Given the description of an element on the screen output the (x, y) to click on. 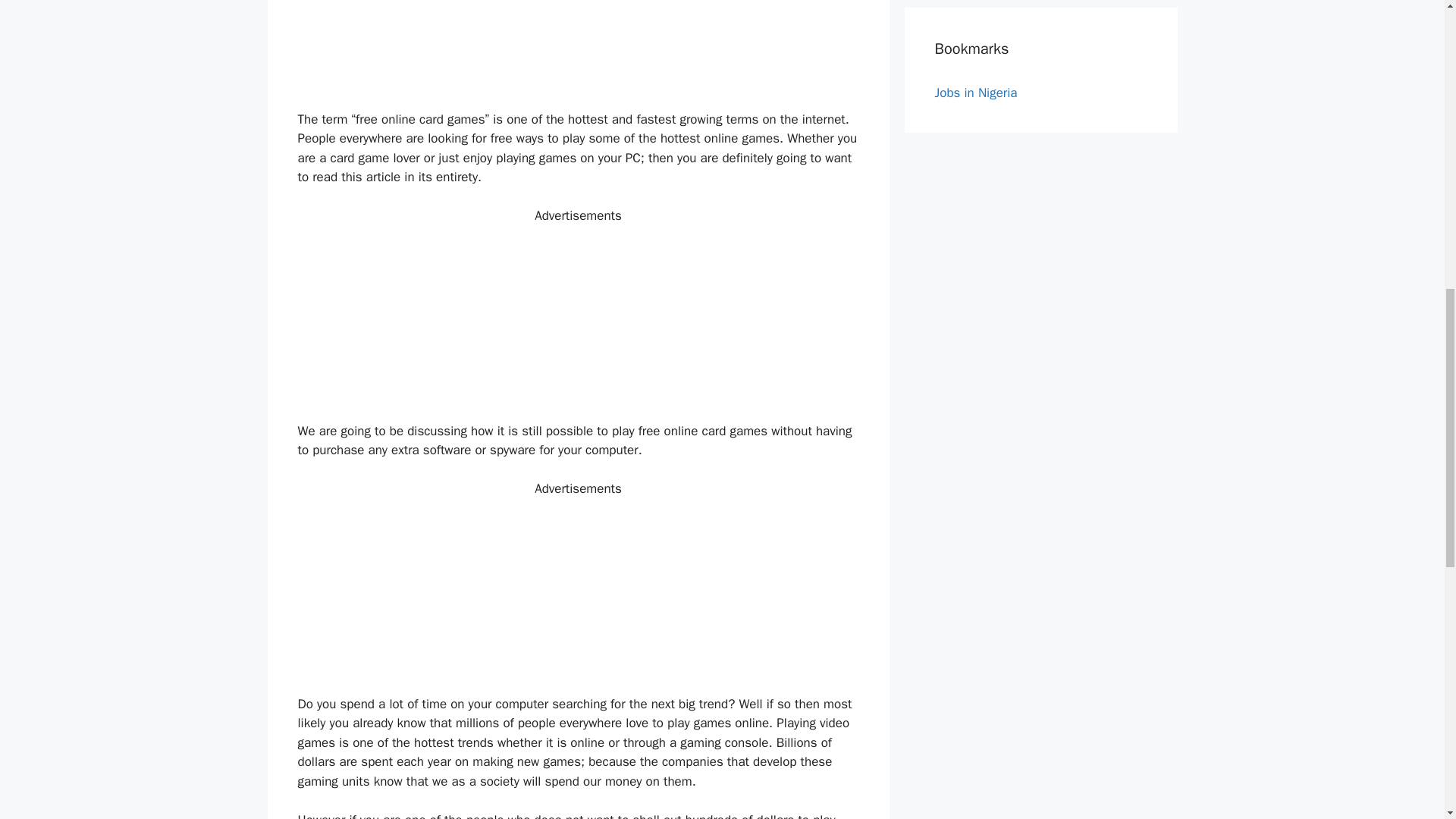
Jobs in Nigeria (975, 92)
Jobs in Nigeria (975, 92)
